Given the description of an element on the screen output the (x, y) to click on. 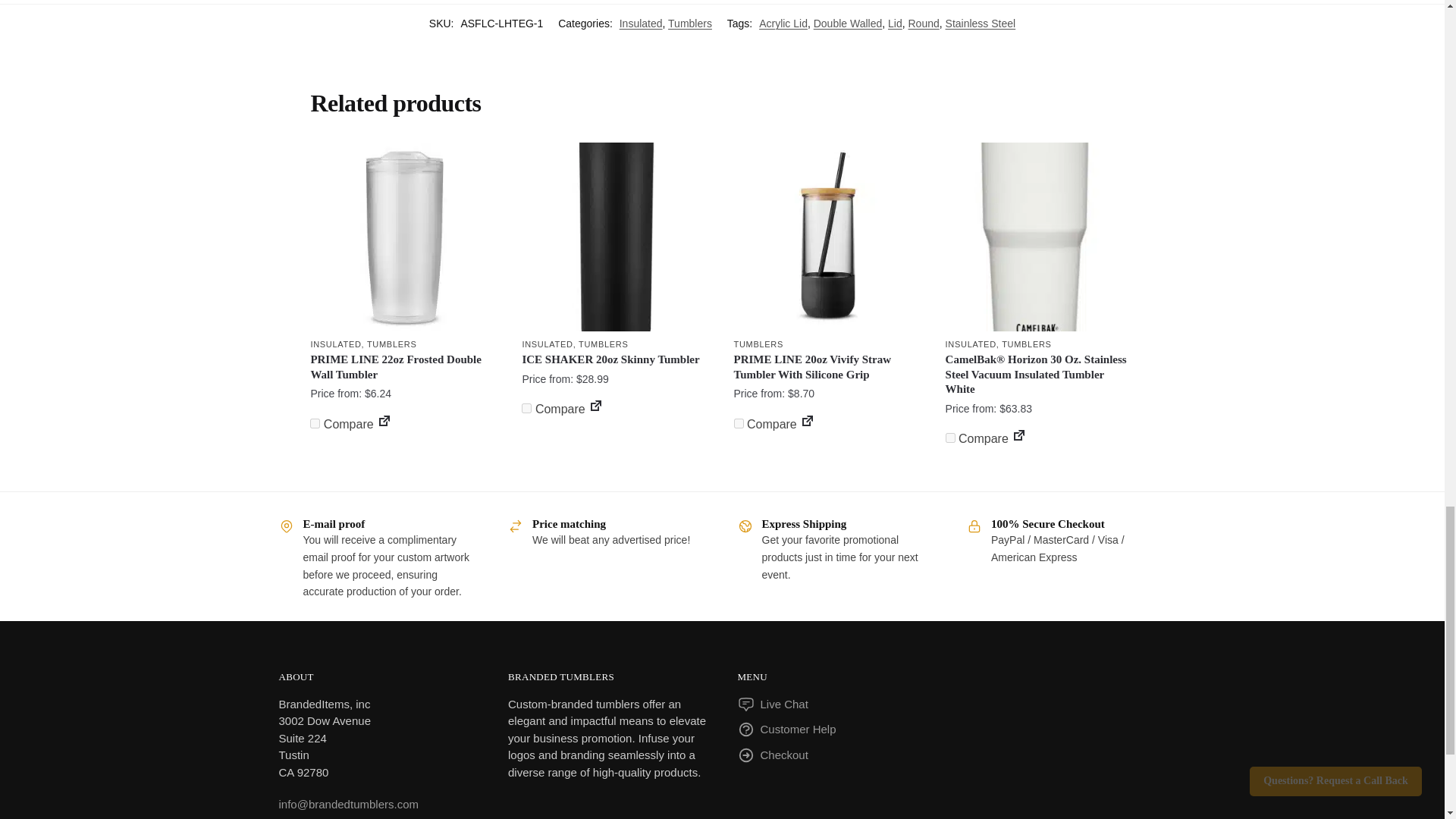
on (526, 408)
on (949, 438)
on (315, 423)
on (738, 423)
